Given the description of an element on the screen output the (x, y) to click on. 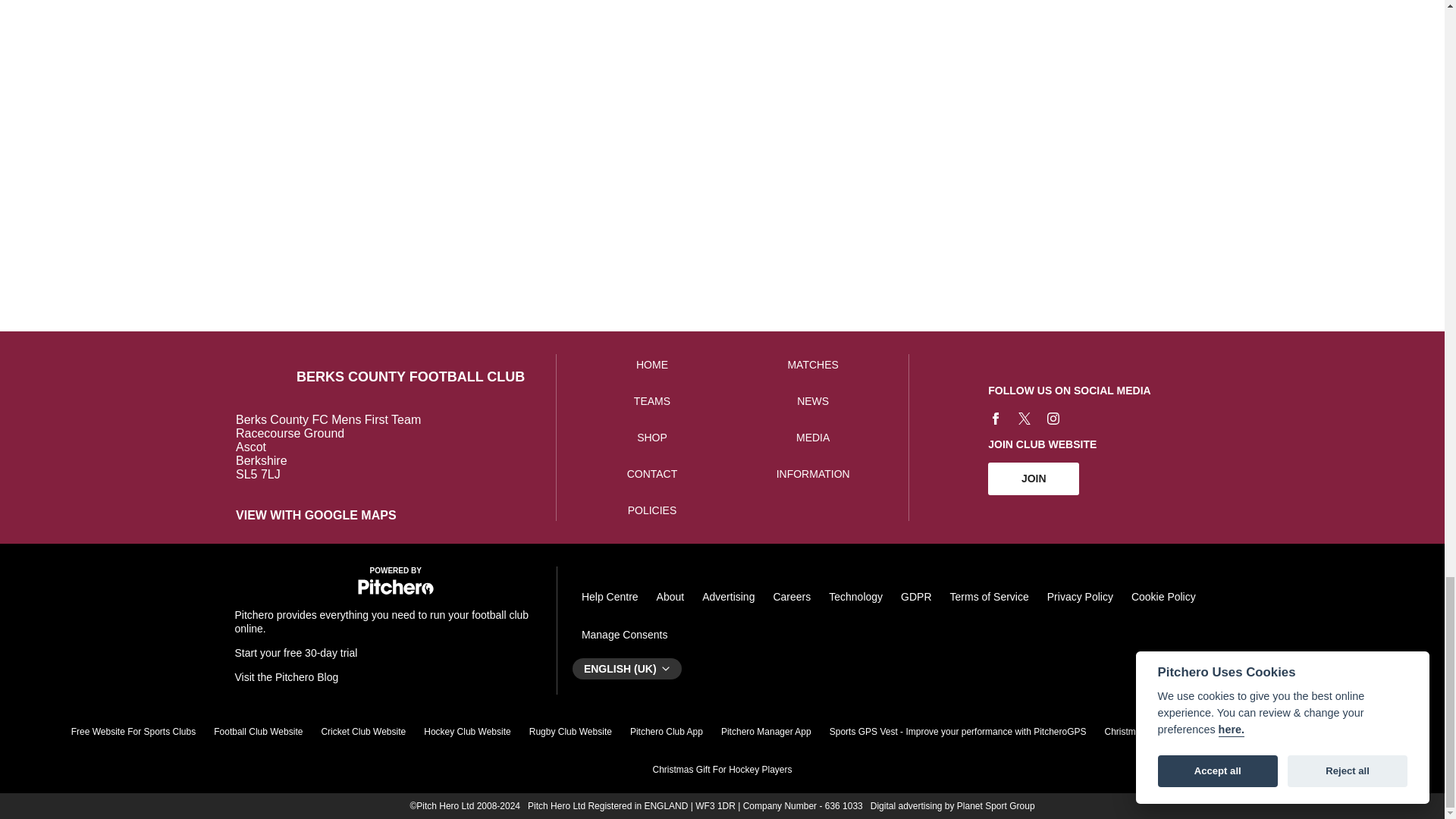
First Team Sponsor - Solar Fire Systems (563, 56)
Junior Sponsor - AWBS (406, 56)
Club Sponsor - Diversified (90, 56)
hq - Sunninghill Comrades Club (1194, 56)
Merchandise - Nike Club Shop (879, 56)
Main Junior Sponsor - The Evolving Mind  (247, 56)
First Team Sponsor - EPC (722, 56)
Call if you need help or support - Childine (1036, 56)
